Given the description of an element on the screen output the (x, y) to click on. 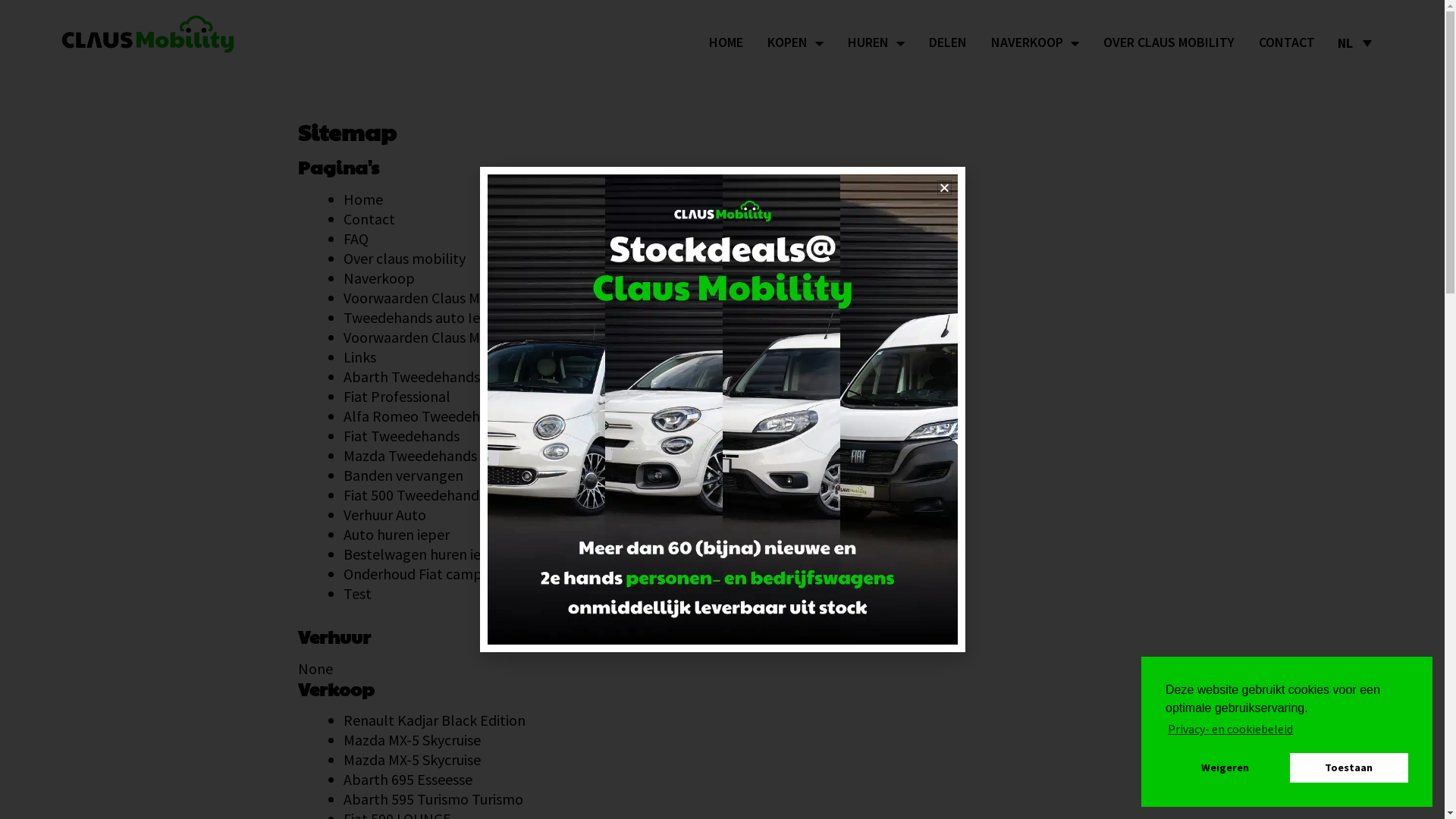
Auto huren ieper Element type: text (395, 533)
KOPEN Element type: text (795, 42)
Abarth Tweedehands Element type: text (410, 376)
Contact Element type: text (368, 218)
Over claus mobility Element type: text (403, 257)
Fiat Tweedehands Element type: text (400, 435)
Toestaan Element type: text (1348, 767)
Renault Kadjar Black Edition Element type: text (433, 719)
Voorwaarden Claus Mobility verkoop Element type: text (459, 336)
HUREN Element type: text (875, 42)
Onderhoud Fiat campers Element type: text (421, 573)
Naverkoop Element type: text (378, 277)
Alfa Romeo Tweedehands Element type: text (425, 415)
Abarth 695 Esseesse Element type: text (406, 778)
Mazda MX-5 Skycruise Element type: text (411, 739)
Home Element type: text (362, 198)
HOME Element type: text (726, 42)
Voorwaarden Claus Mobility verhuring Element type: text (462, 297)
Abarth 595 Turismo Turismo Element type: text (432, 798)
Fiat Professional Element type: text (395, 395)
Test Element type: text (356, 592)
Banden vervangen Element type: text (402, 474)
Fiat 500 Tweedehands & Nearly New Element type: text (458, 494)
DELEN Element type: text (947, 42)
Links Element type: text (358, 356)
Tweedehands auto Ieper Element type: text (421, 316)
Mazda Tweedehands Element type: text (409, 454)
CONTACT Element type: text (1286, 42)
Weigeren Element type: text (1224, 767)
Bestelwagen huren ieper Element type: text (422, 553)
Mazda MX-5 Skycruise Element type: text (411, 758)
NAVERKOOP Element type: text (1035, 42)
Privacy- en cookiebeleid Element type: text (1230, 728)
OVER CLAUS MOBILITY Element type: text (1168, 42)
NL Element type: text (1354, 42)
FAQ Element type: text (354, 238)
Verhuur Auto Element type: text (383, 514)
